Given the description of an element on the screen output the (x, y) to click on. 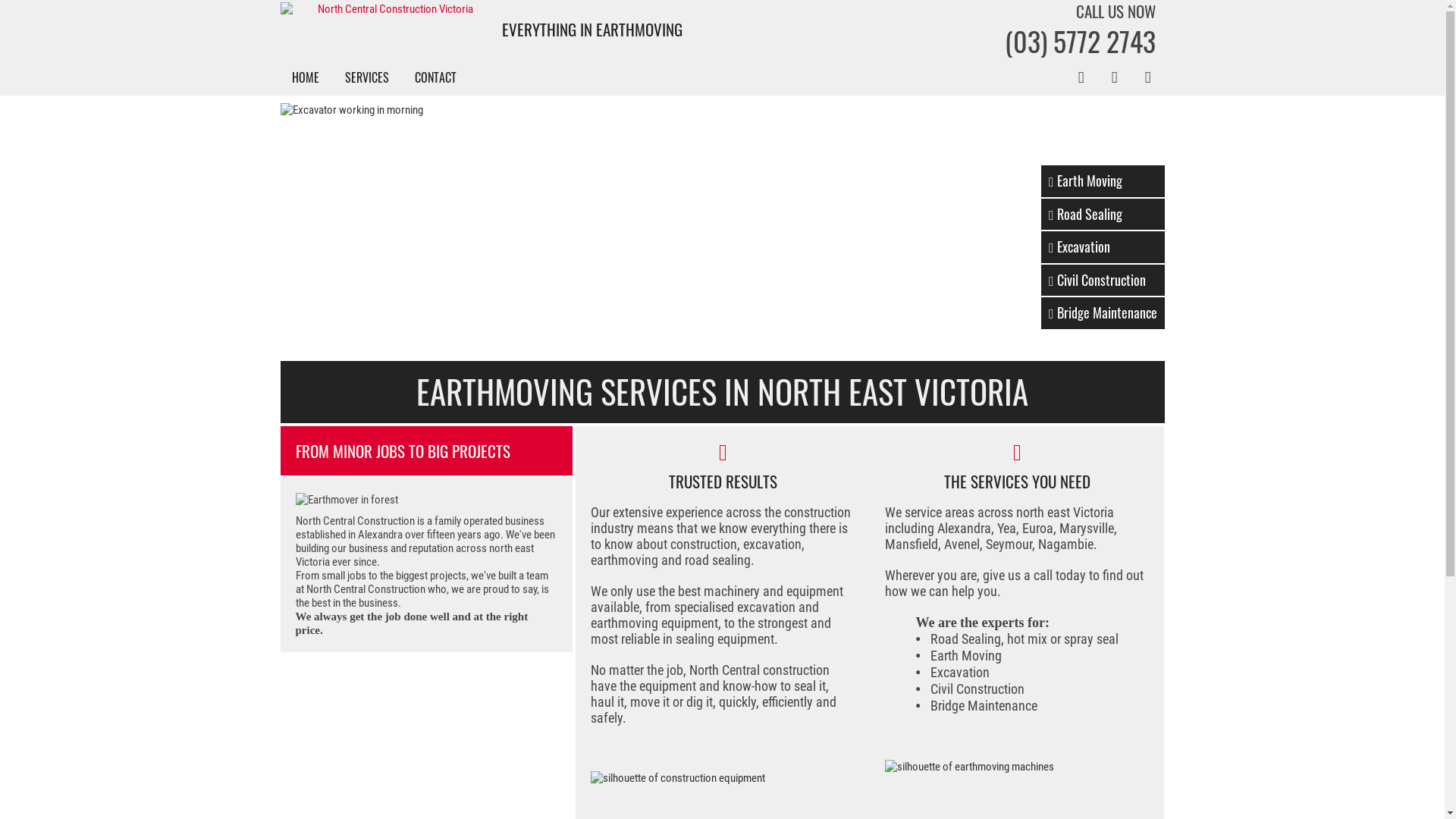
Excavator working in morning Element type: hover (722, 231)
North Central Construction Victoria Element type: hover (389, 8)
SERVICES Element type: text (366, 77)
HOME Element type: text (304, 77)
CONTACT Element type: text (434, 77)
Earthmover in forest Element type: hover (422, 499)
